Given the description of an element on the screen output the (x, y) to click on. 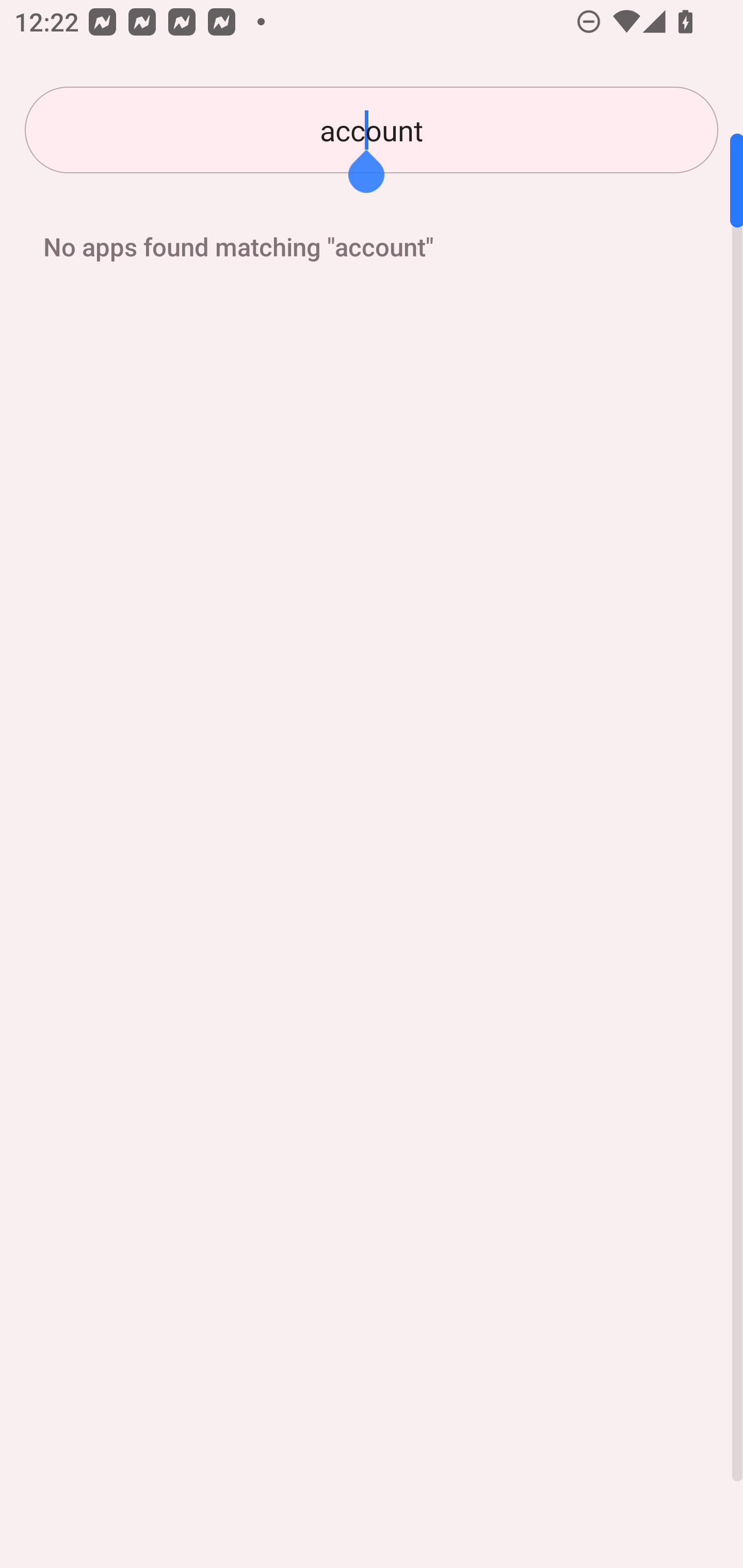
account (371, 130)
